Given the description of an element on the screen output the (x, y) to click on. 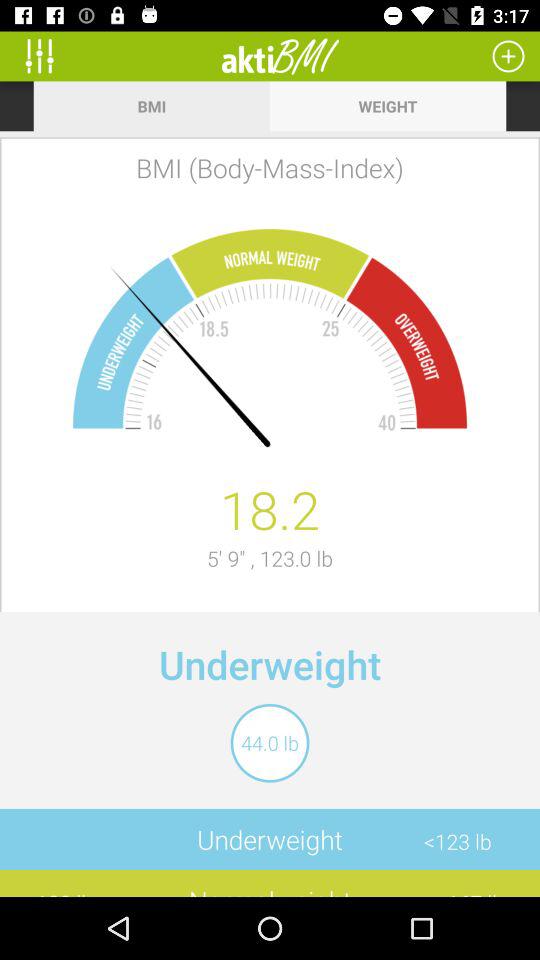
calculate a new body mass index (508, 56)
